Given the description of an element on the screen output the (x, y) to click on. 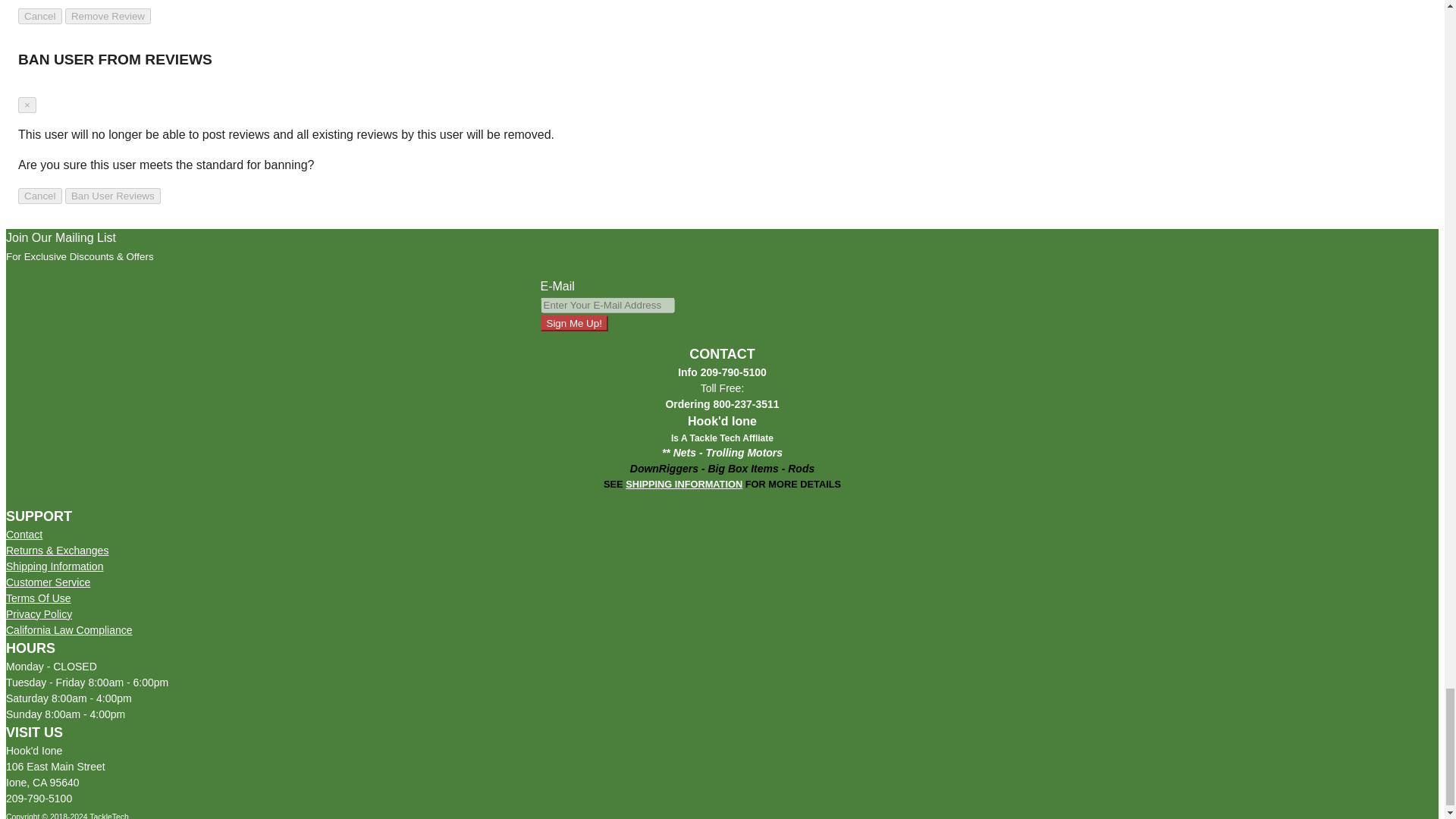
Sign Me Up! (573, 323)
